Given the description of an element on the screen output the (x, y) to click on. 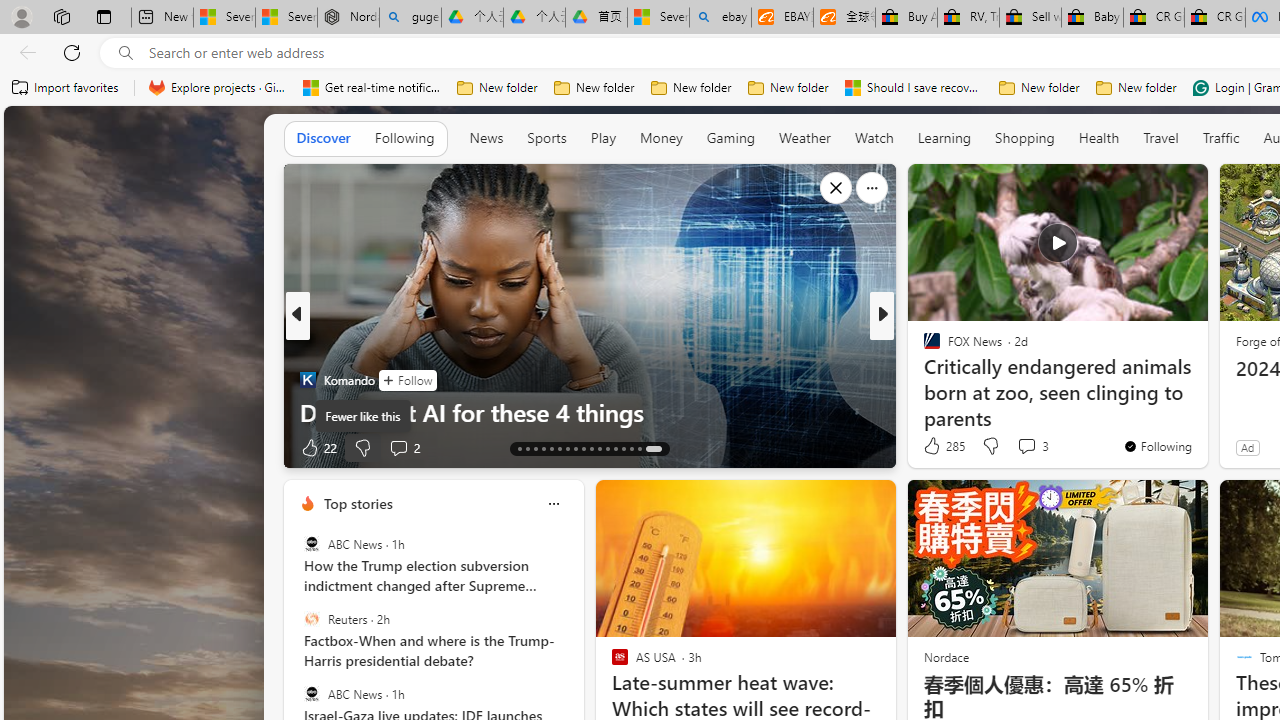
Should I save recovered Word documents? - Microsoft Support (913, 88)
Learning (944, 137)
AutomationID: tab-25 (614, 448)
You're following FOX News (1157, 445)
AutomationID: tab-17 (550, 448)
Play (603, 138)
AutomationID: tab-19 (567, 448)
AutomationID: tab-24 (606, 448)
Travel (1160, 137)
Reuters (311, 619)
